Given the description of an element on the screen output the (x, y) to click on. 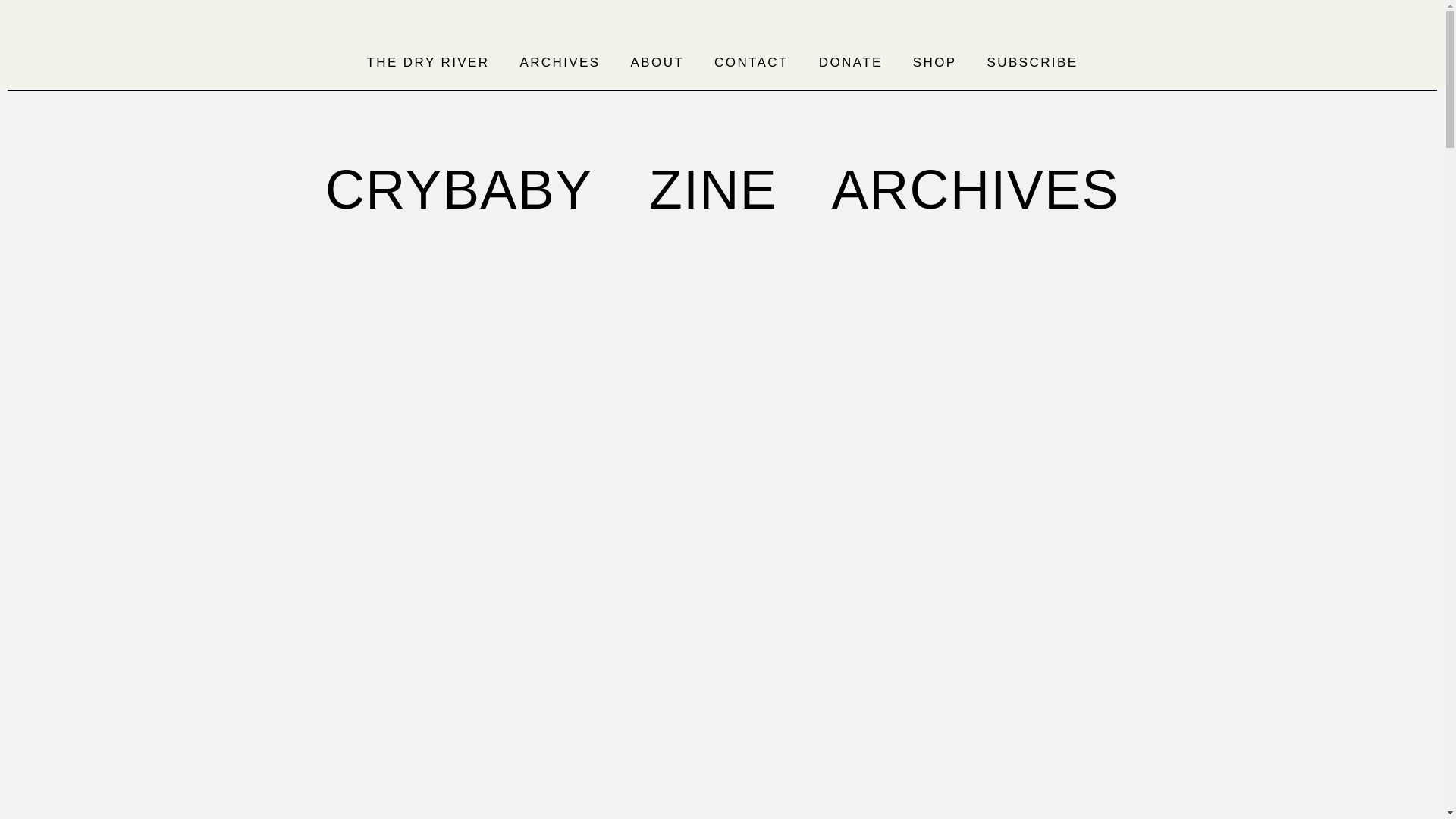
THE DRY RIVER (428, 62)
ARCHIVES (558, 62)
CONTACT (750, 62)
DONATE (850, 62)
SUBSCRIBE (1032, 62)
SHOP (935, 62)
ABOUT (657, 62)
